Given the description of an element on the screen output the (x, y) to click on. 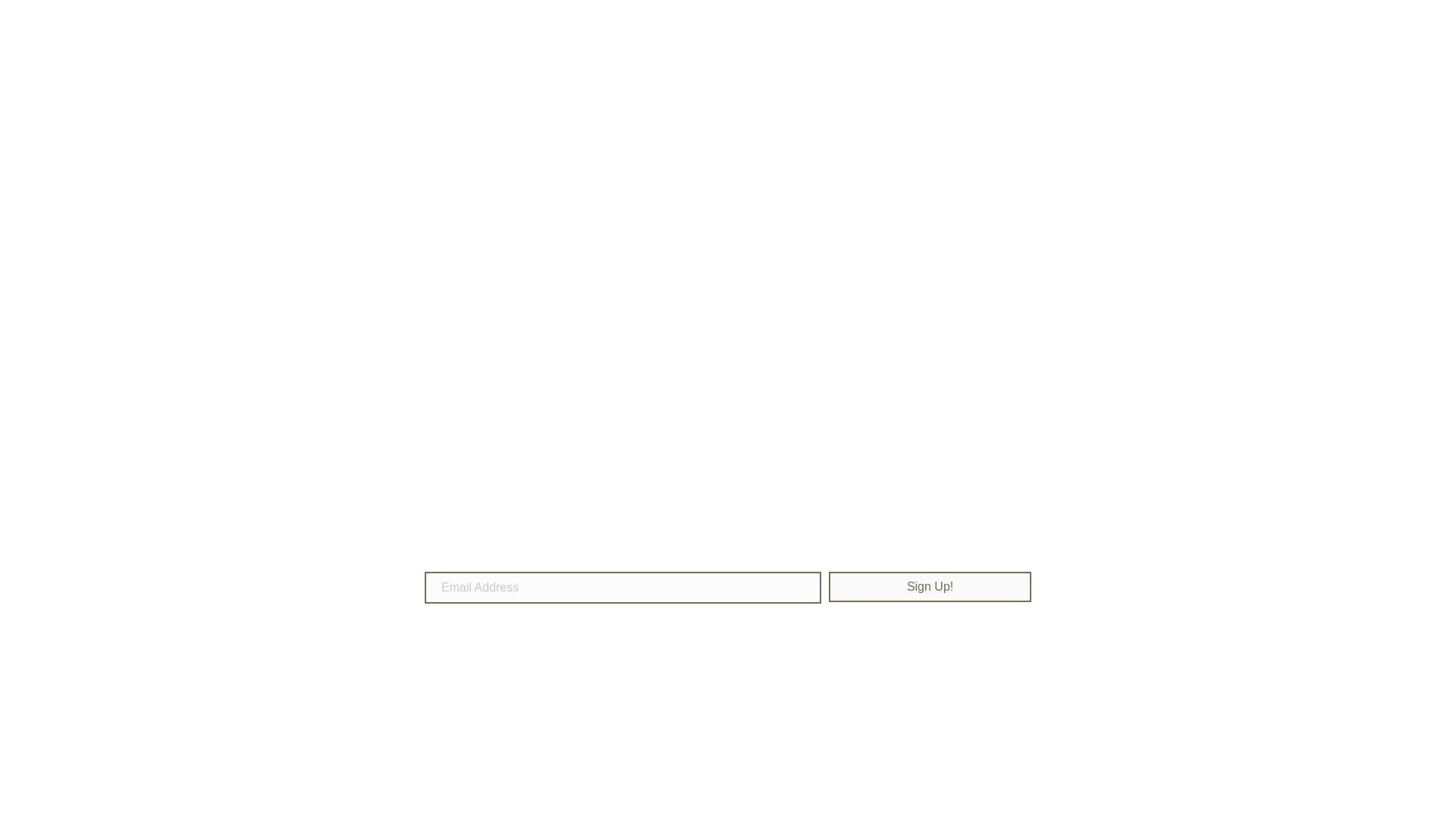
Sign Up! Element type: text (929, 586)
